Given the description of an element on the screen output the (x, y) to click on. 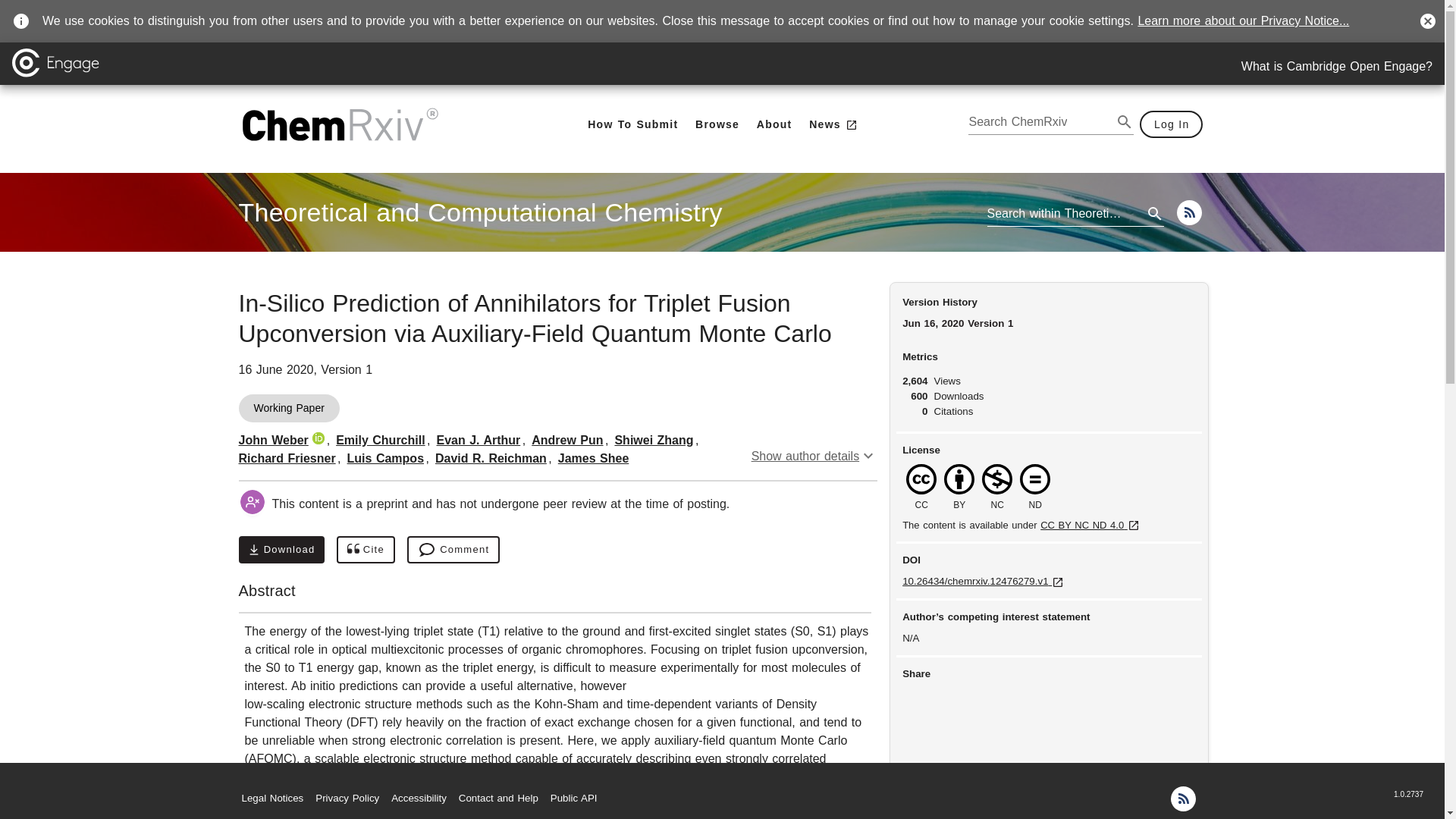
How To Submit (632, 124)
James Shee (592, 458)
Log In (1172, 124)
John Weber (272, 440)
Evan J. Arthur (478, 440)
Download (280, 549)
Comment (453, 549)
Shiwei Zhang (653, 440)
Emily Churchill (380, 440)
Browse (716, 124)
